Given the description of an element on the screen output the (x, y) to click on. 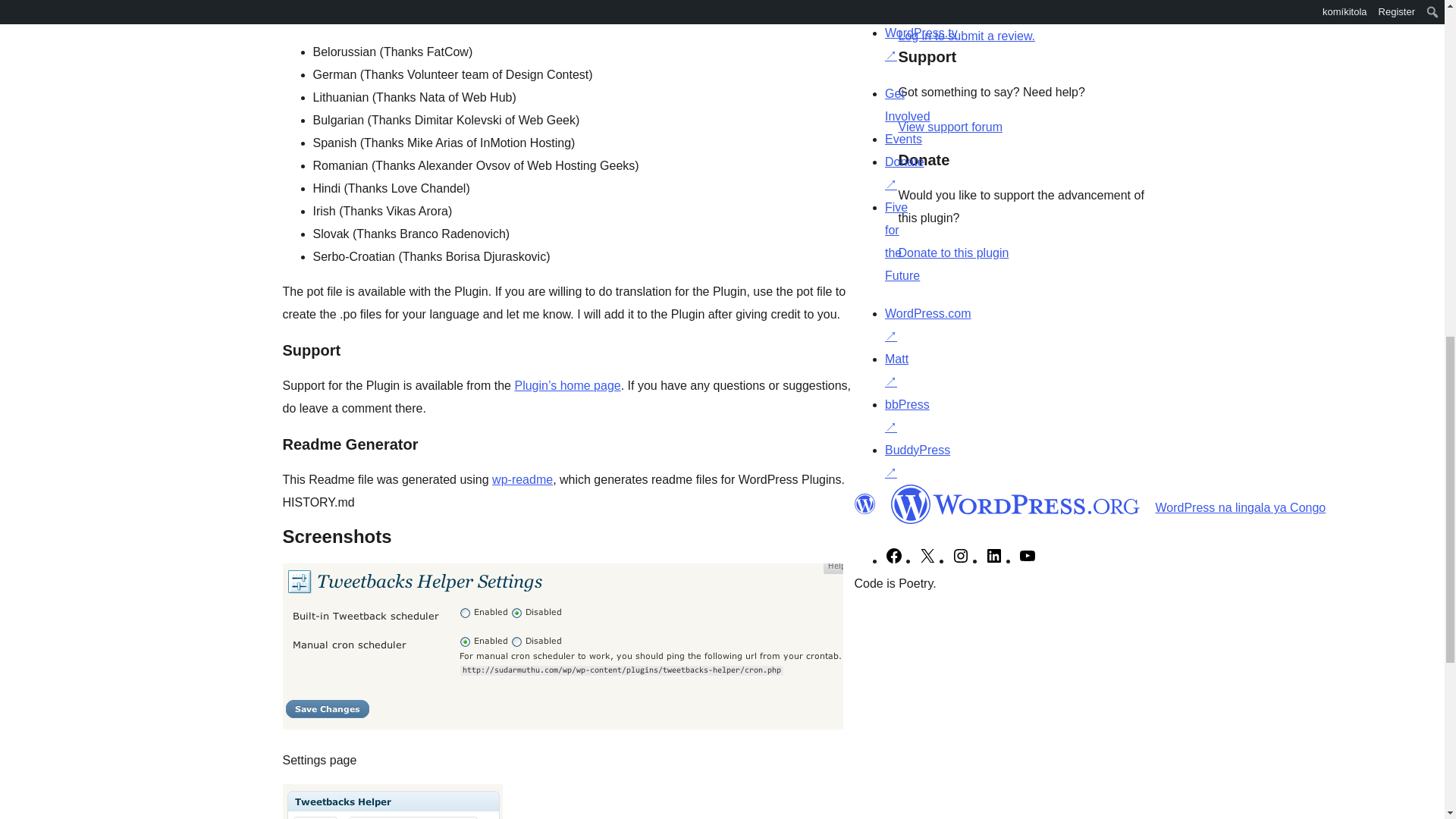
Log in to WordPress.org (966, 35)
WordPress.org (1014, 504)
WordPress.org (864, 504)
wp-readme (522, 479)
